Given the description of an element on the screen output the (x, y) to click on. 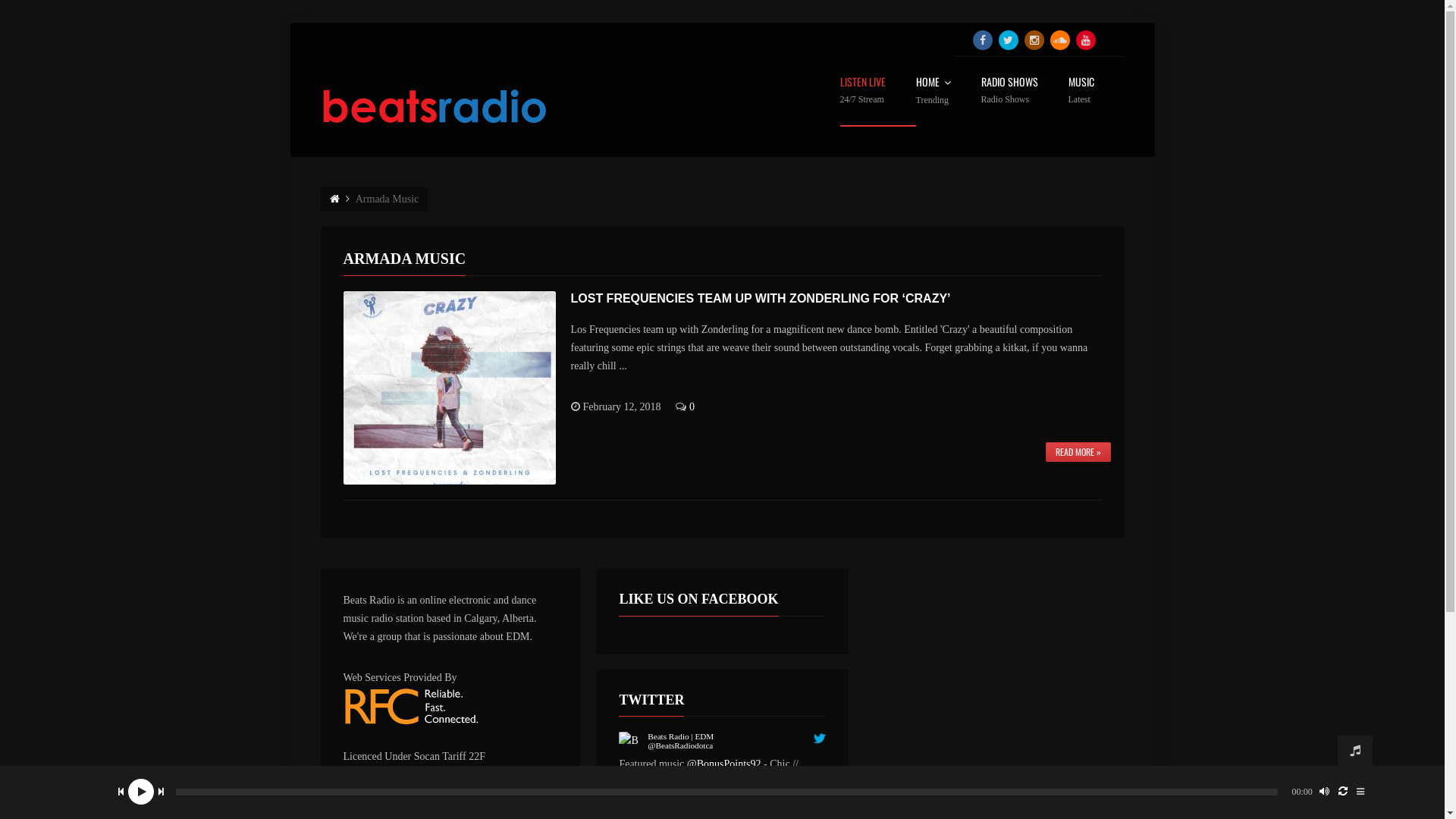
Repeat Element type: hover (1342, 791)
beatsradio.ca Element type: text (707, 781)
Twitter Element type: hover (1007, 40)
@BonusPoints92 Element type: text (724, 763)
RFCHosting.ca Element type: hover (449, 705)
Soundcloud Element type: hover (1059, 40)
Canada's EDM Station Element type: hover (433, 106)
Armada Music Element type: text (387, 198)
HOME
Trending Element type: text (948, 101)
Beats Radio | EDM Element type: hover (630, 743)
MUSIC
Latest Element type: text (1095, 101)
Beats Radio | EDM Element type: text (680, 735)
Instagram Element type: hover (1033, 40)
RADIO SHOWS
Radio Shows Element type: text (1024, 101)
YouTube Element type: hover (1085, 40)
@BeatsRadiodotca Element type: text (679, 744)
Home Element type: hover (333, 198)
0 Element type: text (691, 406)
Facebook Element type: hover (981, 40)
LISTEN LIVE
24/7 Stream Element type: text (878, 101)
